Given the description of an element on the screen output the (x, y) to click on. 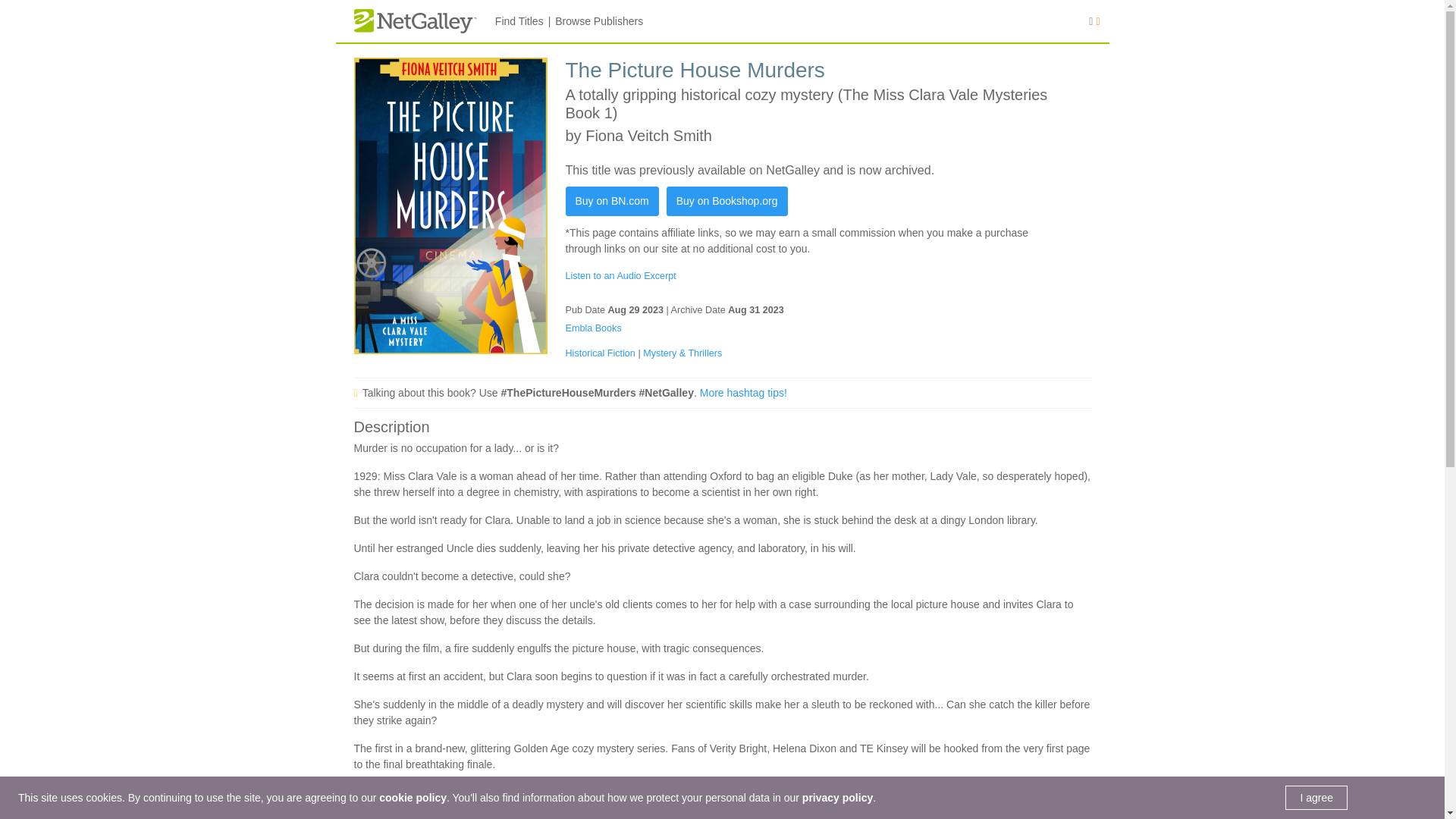
Buy on Bookshop.org (726, 201)
Browse Publishers (598, 21)
Embla Books (593, 327)
Listen to an Audio Excerpt (621, 276)
Buy on BN.com (612, 201)
Historical Fiction (602, 353)
Find Titles (519, 21)
